Given the description of an element on the screen output the (x, y) to click on. 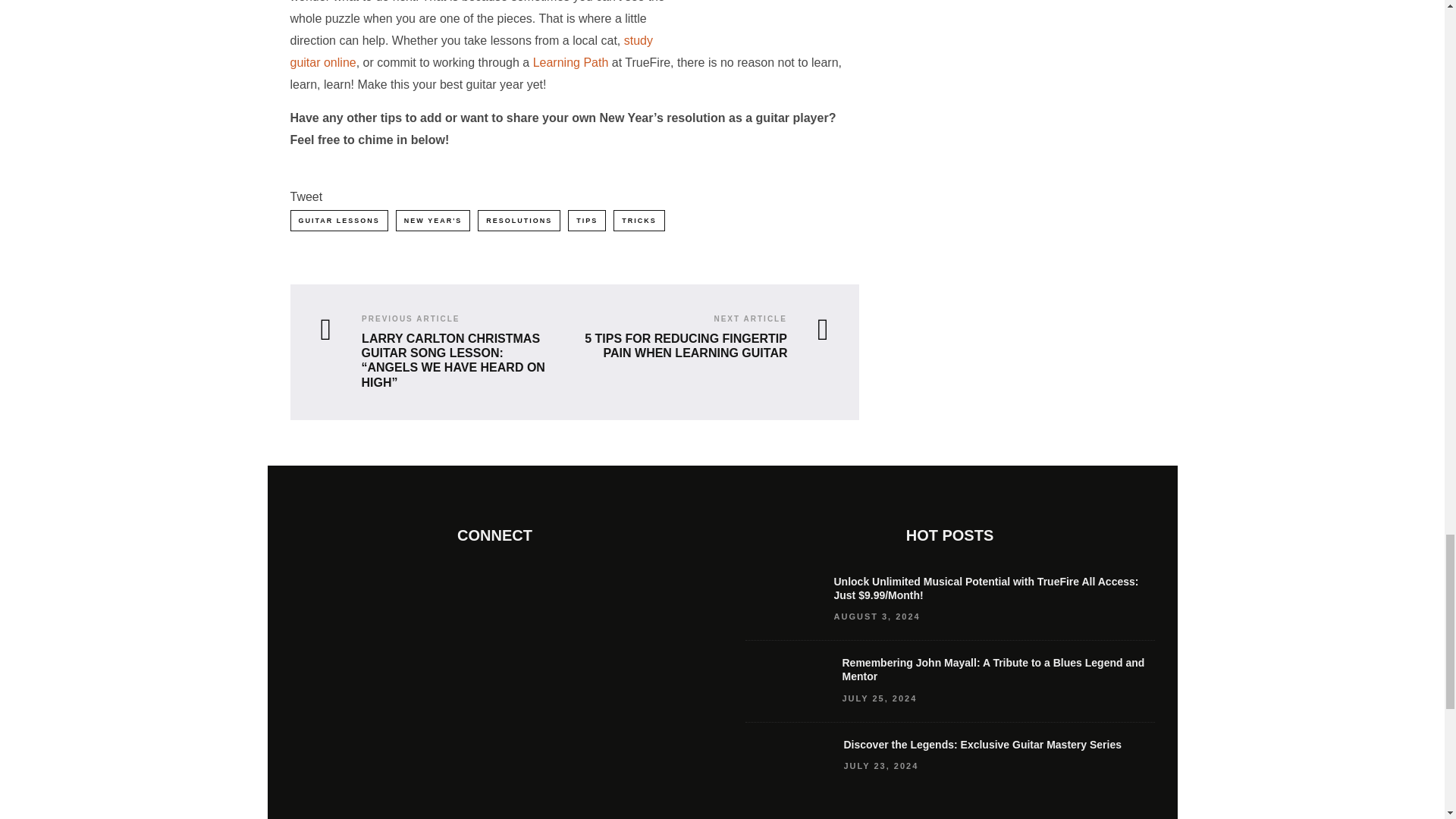
GUITAR LESSONS (338, 219)
Learning Path (570, 62)
study guitar online (470, 51)
guitar courses (470, 51)
NEW YEAR'S (433, 219)
Tweet (305, 196)
